Given the description of an element on the screen output the (x, y) to click on. 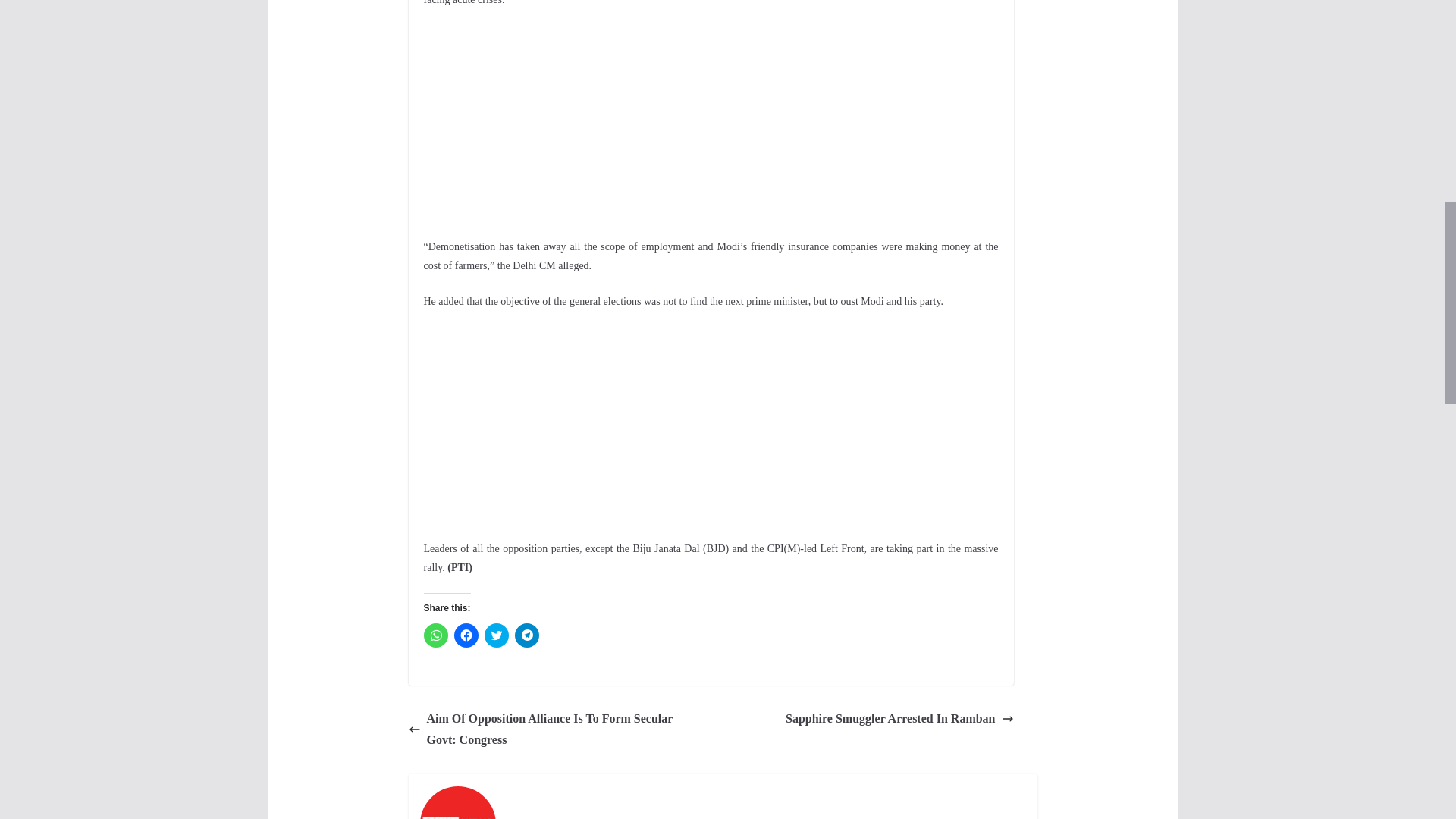
Click to share on WhatsApp (434, 635)
Click to share on Twitter (495, 635)
Aim Of Opposition Alliance Is To Form Secular Govt: Congress (555, 730)
Sapphire Smuggler Arrested In Ramban (899, 719)
Advertisement (710, 432)
Advertisement (710, 131)
Click to share on Facebook (464, 635)
